Given the description of an element on the screen output the (x, y) to click on. 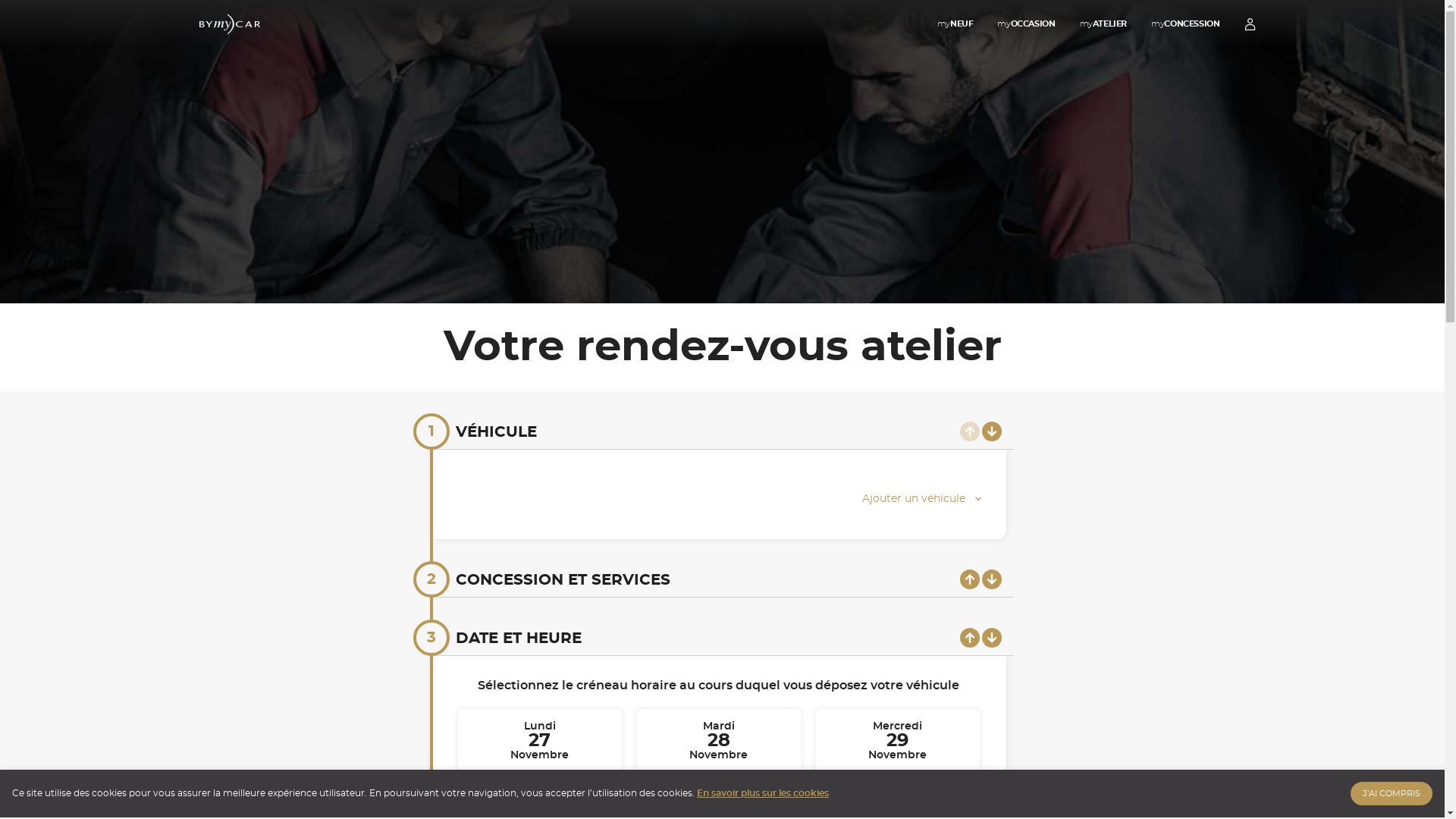
my
CONCESSION Element type: text (1185, 23)
3 Element type: text (430, 637)
my
NEUF Element type: text (955, 23)
En savoir plus sur les cookies Element type: text (762, 792)
DATE ET HEURE Element type: text (517, 638)
J'AI COMPRIS Element type: text (1391, 793)
1 Element type: text (430, 431)
2 Element type: text (430, 579)
my
OCCASION Element type: text (1025, 23)
CONCESSION ET SERVICES Element type: text (562, 579)
Identifiez-vous Element type: hover (1249, 23)
my
ATELIER Element type: text (1103, 23)
